Given the description of an element on the screen output the (x, y) to click on. 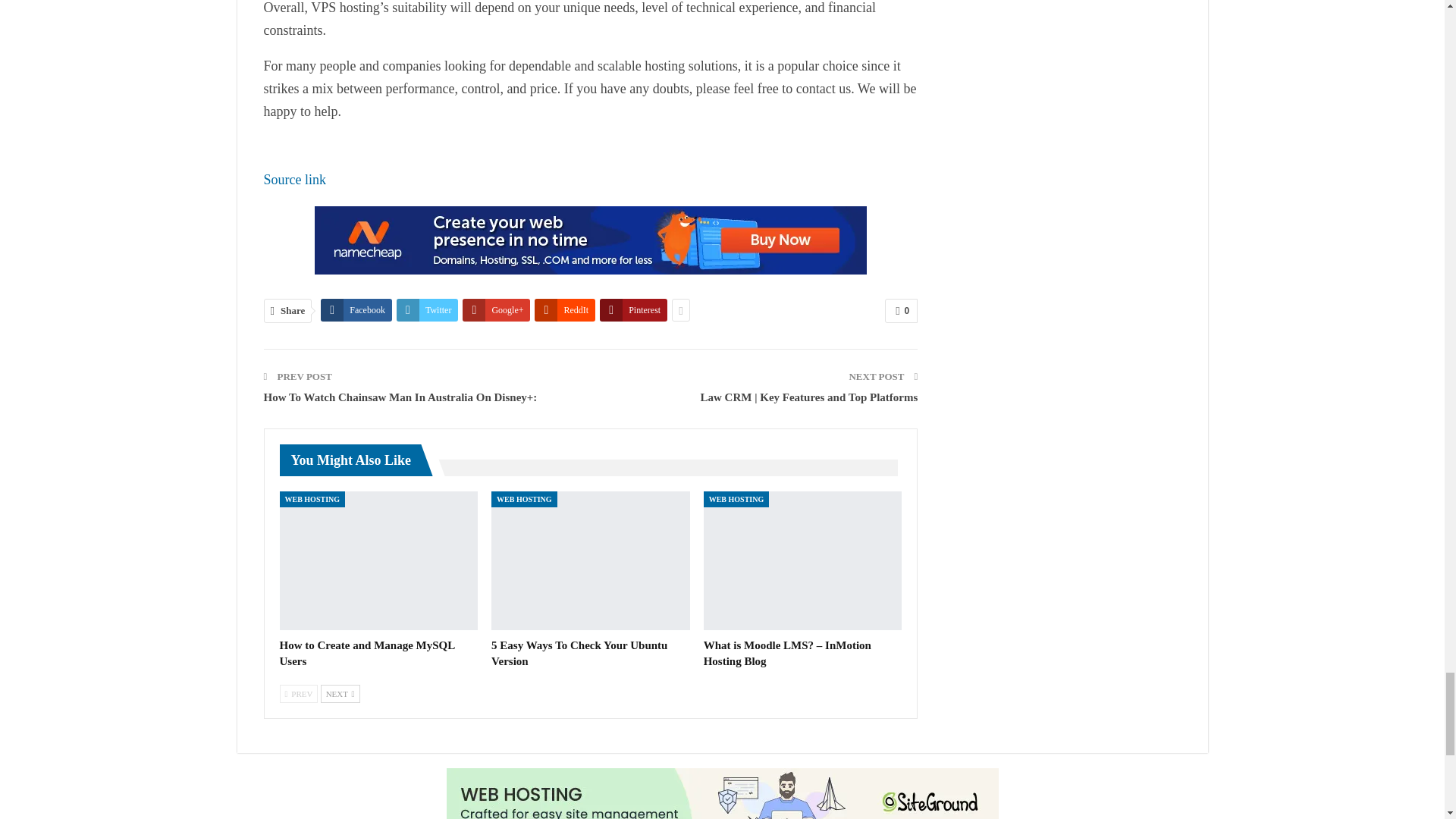
Twitter (427, 309)
Next (339, 693)
Facebook (355, 309)
How to Create and Manage MySQL Users (378, 560)
0 (901, 310)
Source link (294, 179)
ReddIt (564, 309)
How to Create and Manage MySQL Users (366, 653)
5 Easy Ways To Check Your Ubuntu Version (579, 653)
Pinterest (632, 309)
Previous (298, 693)
5 Easy Ways To Check Your Ubuntu Version (591, 560)
